Given the description of an element on the screen output the (x, y) to click on. 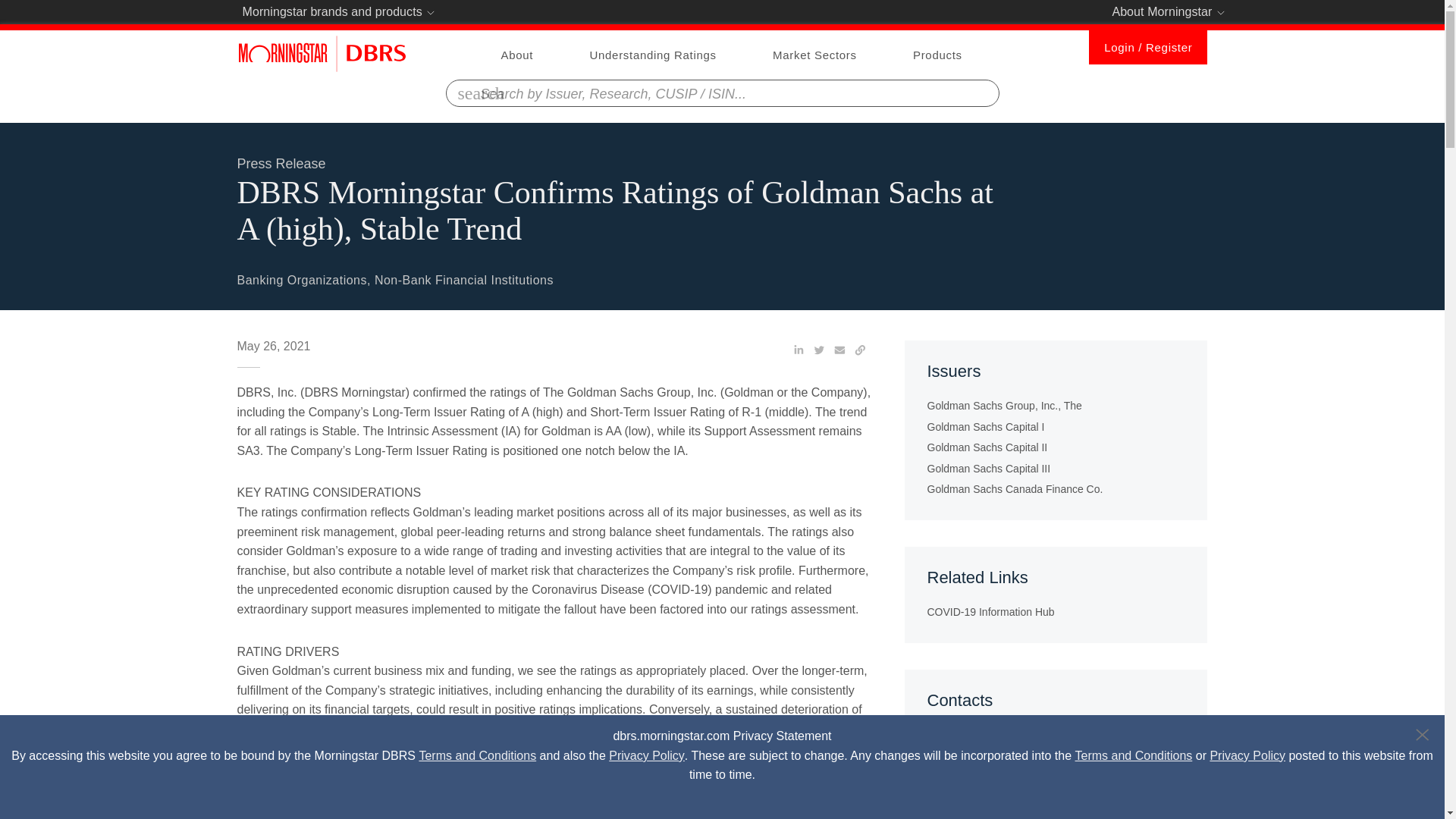
Related Links (1055, 594)
Issuers (1055, 430)
